Given the description of an element on the screen output the (x, y) to click on. 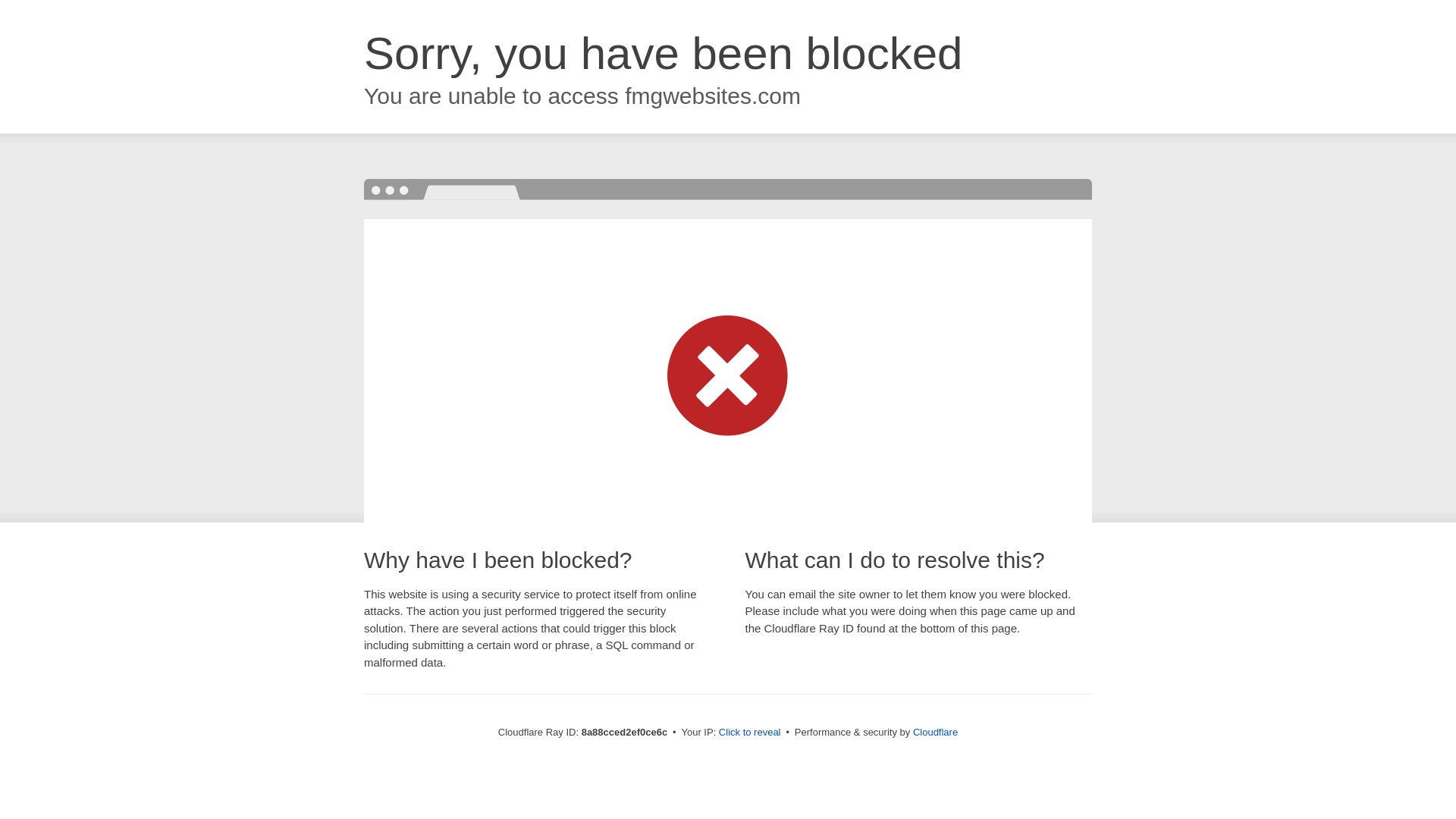
Cloudflare (935, 731)
Click to reveal (749, 732)
